Given the description of an element on the screen output the (x, y) to click on. 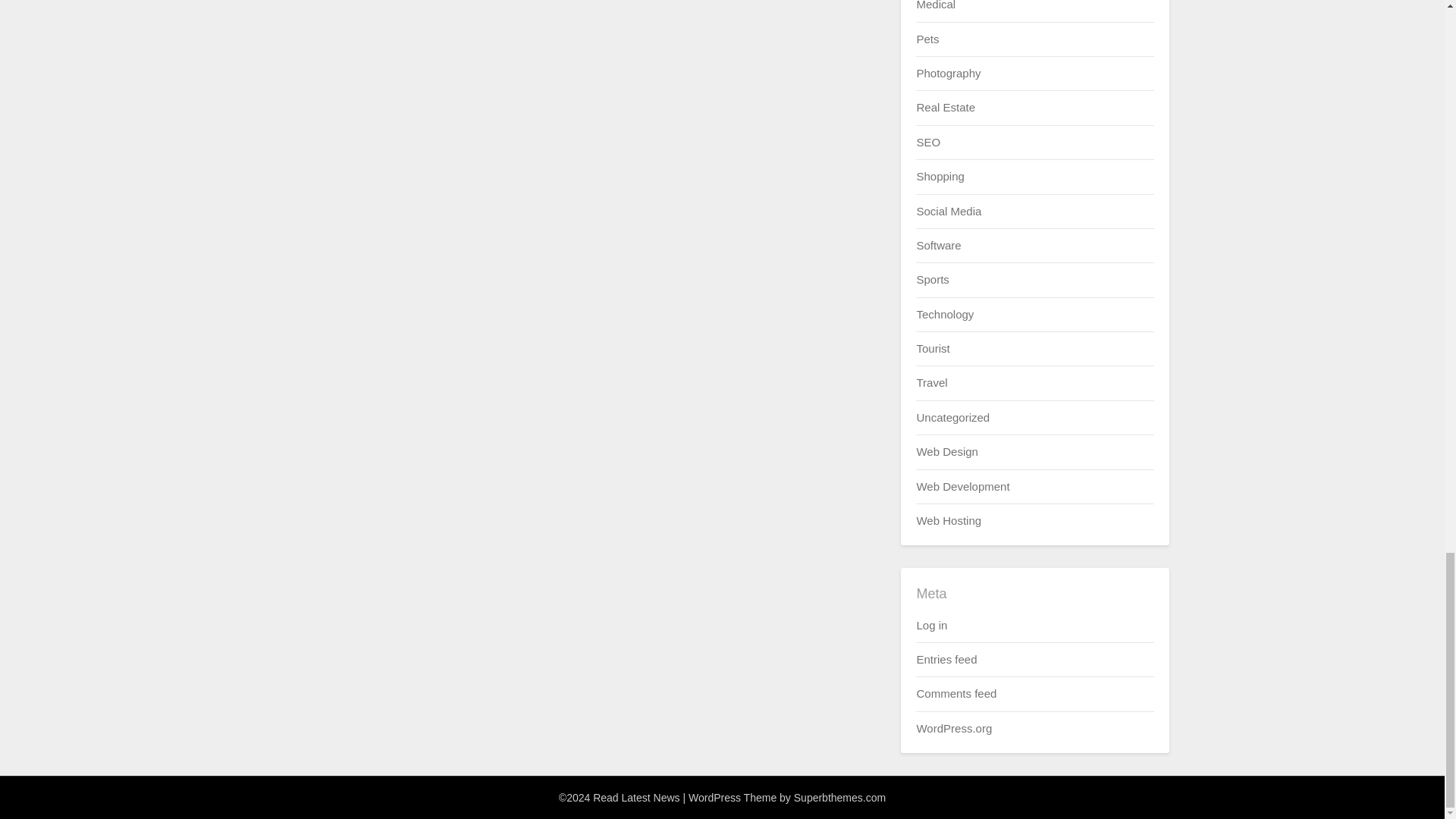
Medical (935, 5)
